Given the description of an element on the screen output the (x, y) to click on. 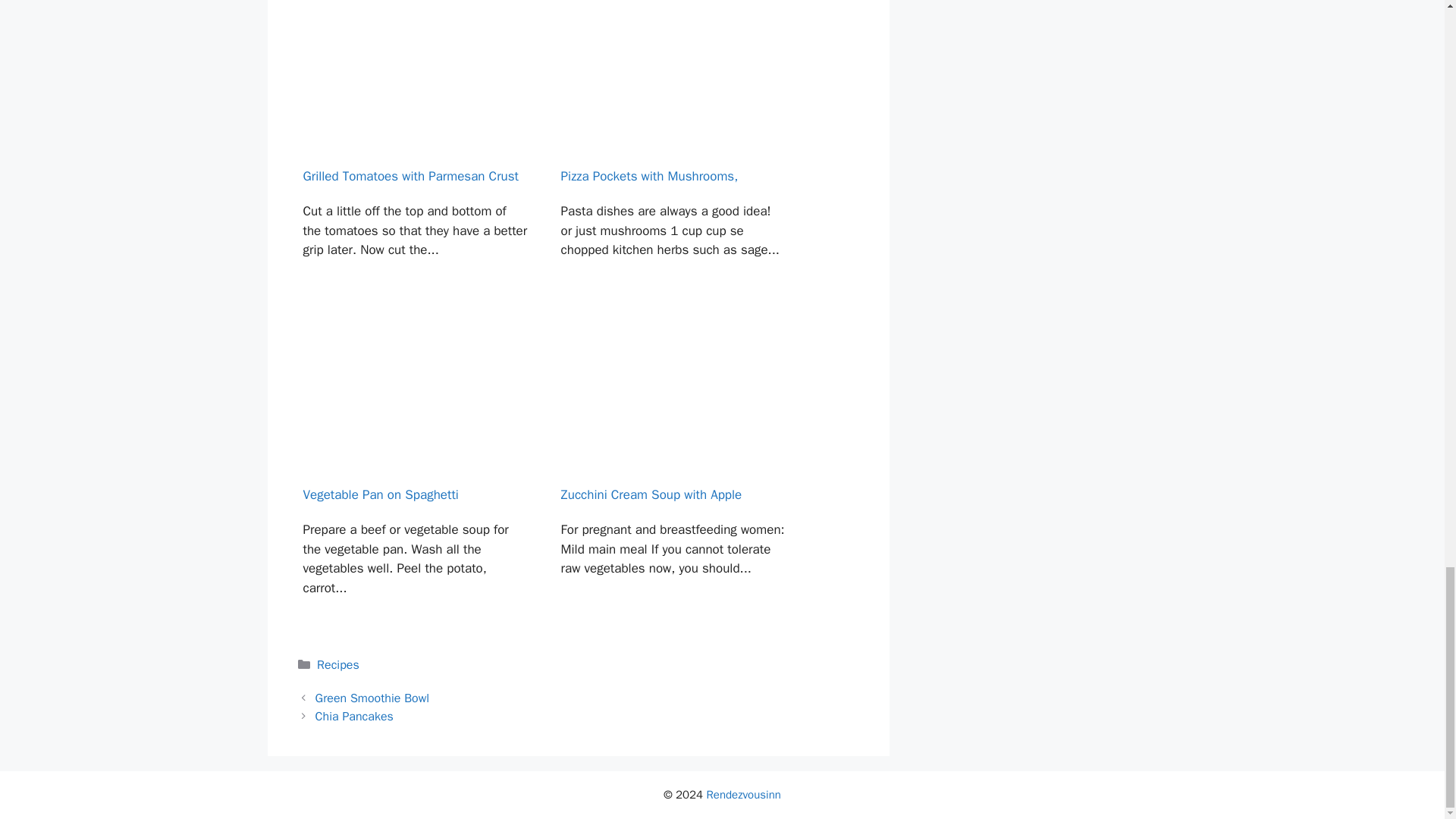
Recipes (338, 664)
Chia Pancakes (354, 716)
Green Smoothie Bowl (372, 698)
